Given the description of an element on the screen output the (x, y) to click on. 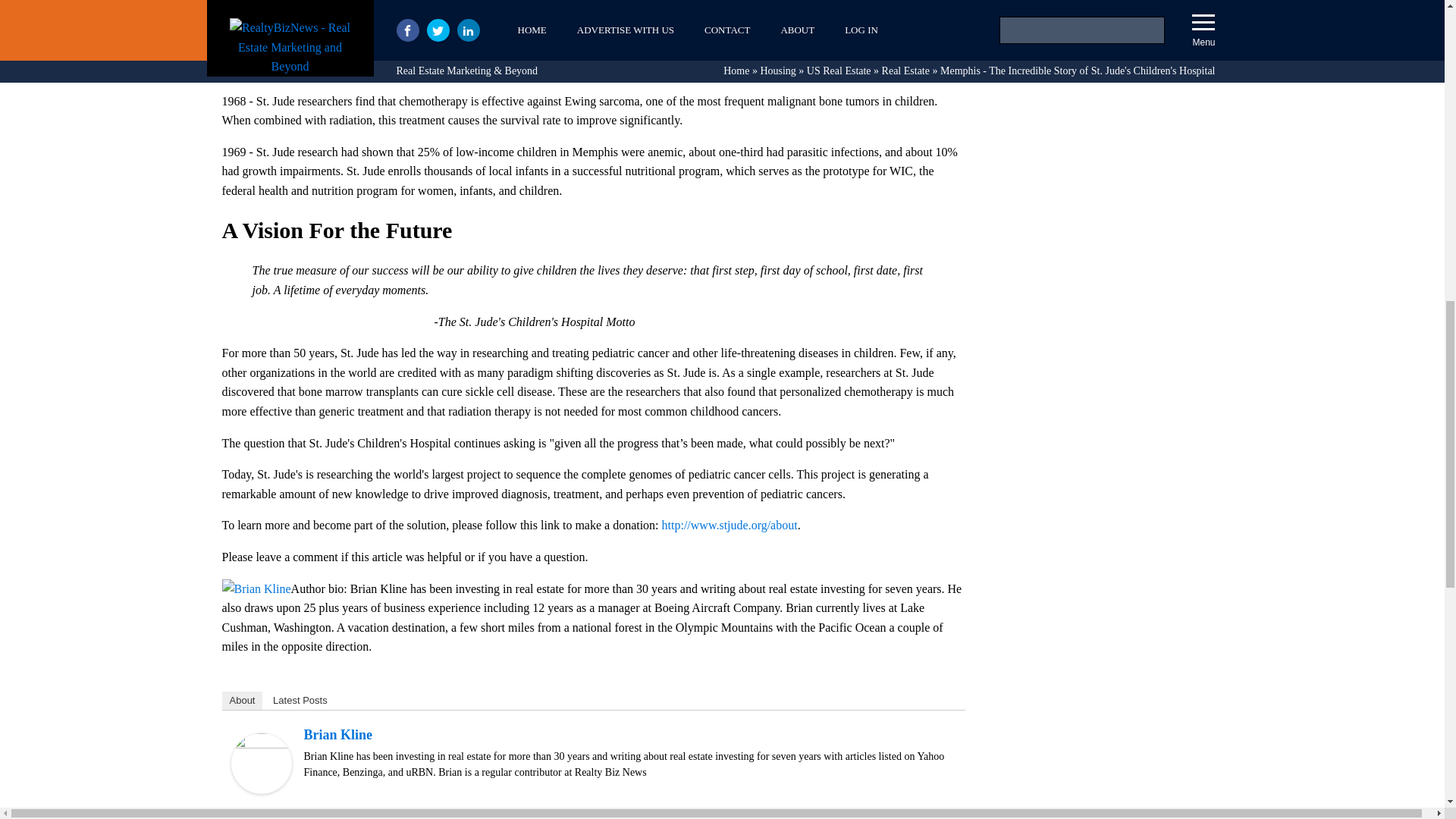
Brian Kline (260, 789)
